Given the description of an element on the screen output the (x, y) to click on. 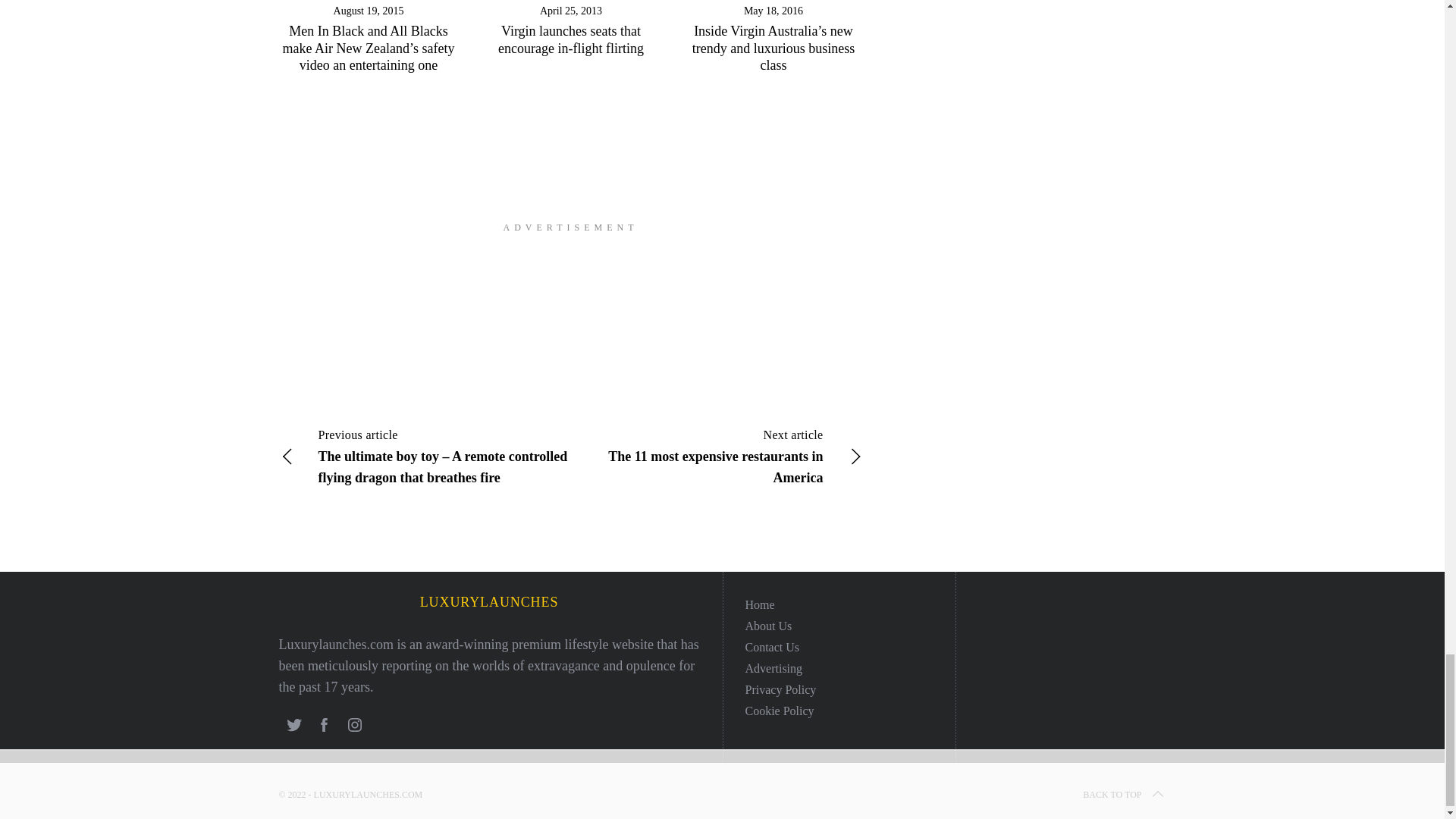
About Us (768, 625)
Contact us (771, 646)
Privacy Policy (779, 689)
Cookie Policy (778, 710)
Advertising (773, 667)
Home (759, 604)
